Given the description of an element on the screen output the (x, y) to click on. 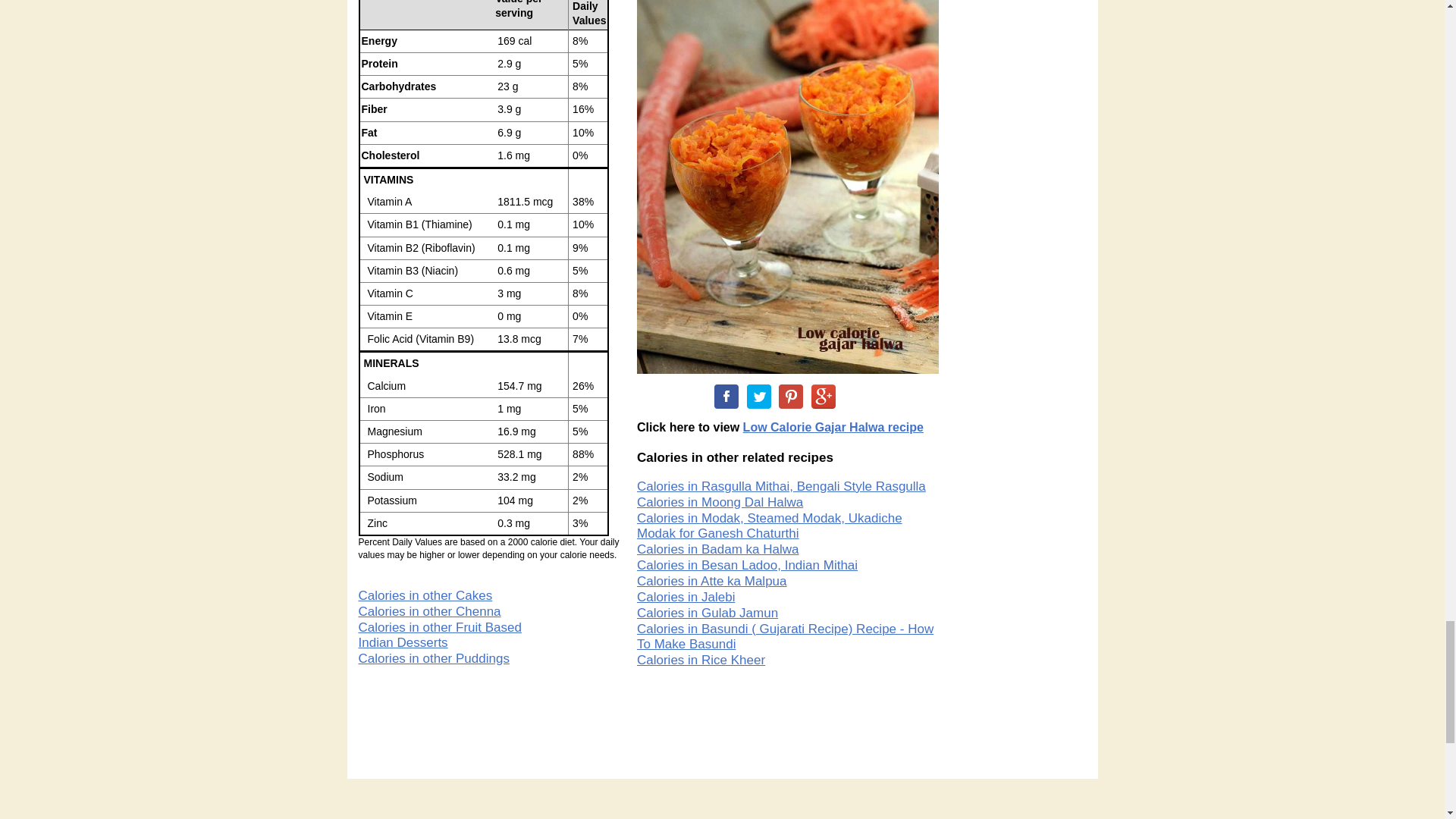
Click here (832, 427)
